Given the description of an element on the screen output the (x, y) to click on. 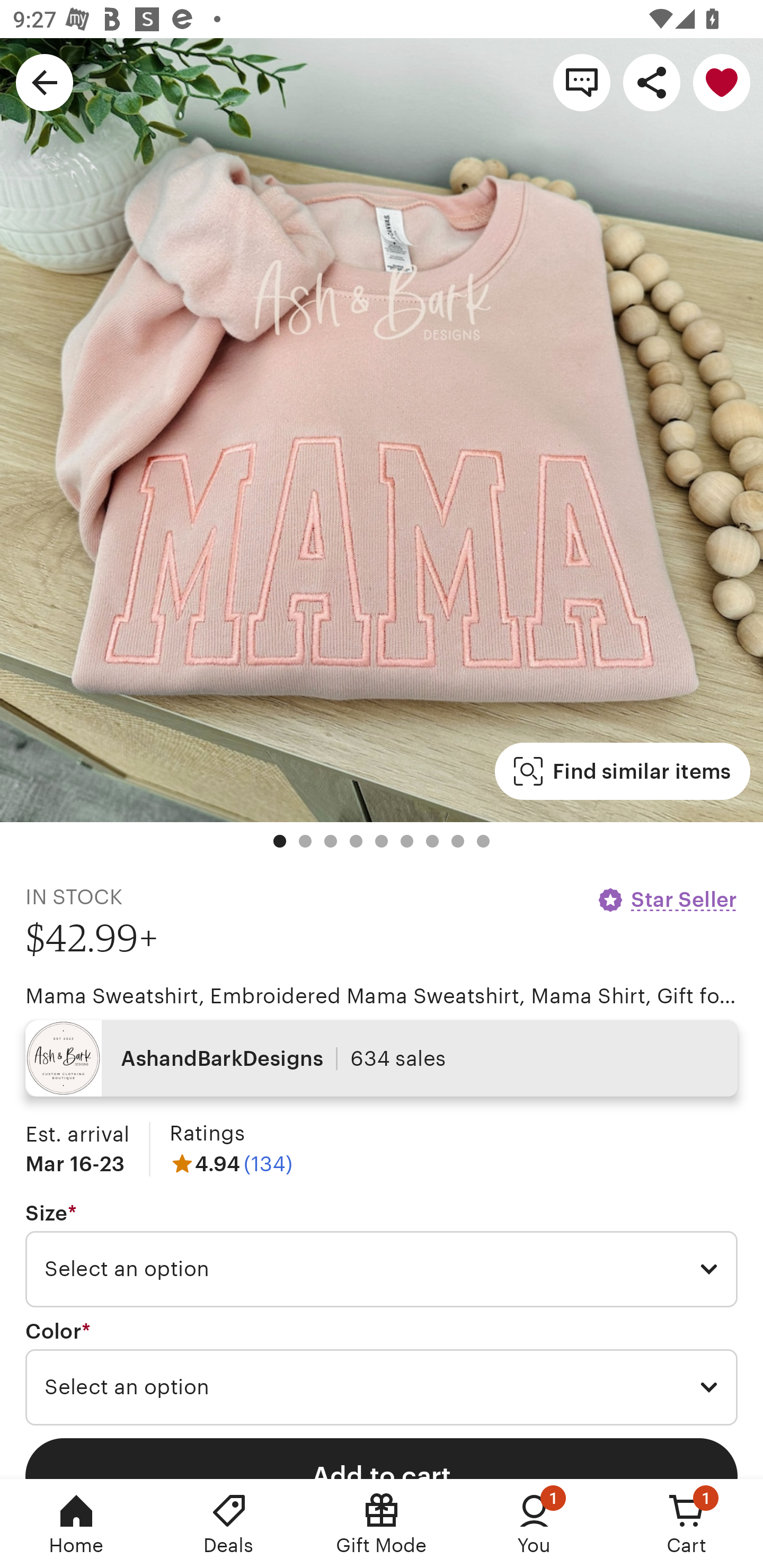
Navigate up (44, 81)
Contact shop (581, 81)
Share (651, 81)
Find similar items (622, 771)
Star Seller (666, 899)
AshandBarkDesigns 634 sales (381, 1058)
Ratings (206, 1133)
4.94 (134) (230, 1163)
Size * Required Select an option (381, 1254)
Select an option (381, 1268)
Color * Required Select an option (381, 1372)
Select an option (381, 1386)
Deals (228, 1523)
Gift Mode (381, 1523)
You, 1 new notification You (533, 1523)
Cart, 1 new notification Cart (686, 1523)
